Given the description of an element on the screen output the (x, y) to click on. 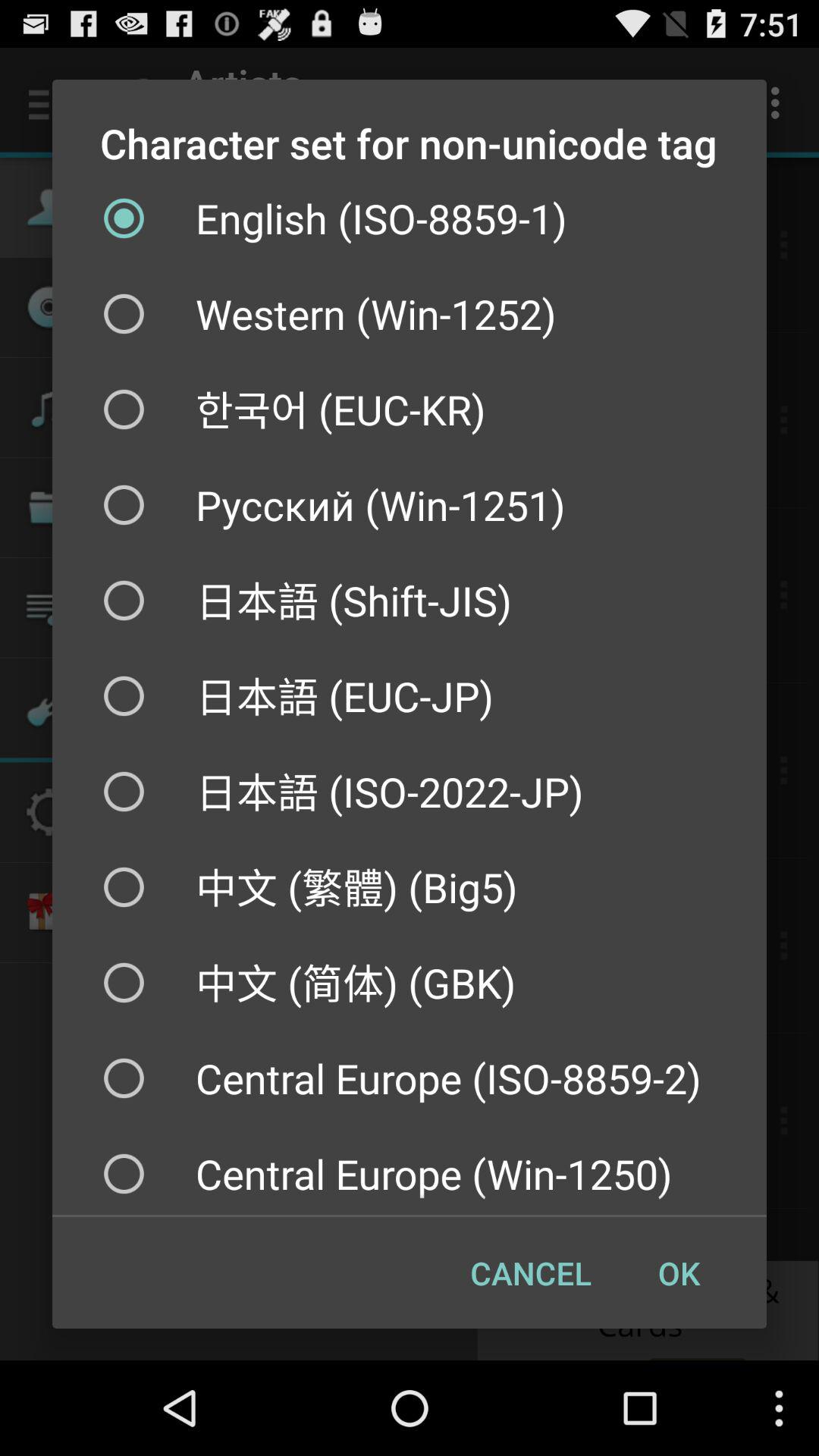
tap checkbox below central europe win icon (530, 1272)
